Given the description of an element on the screen output the (x, y) to click on. 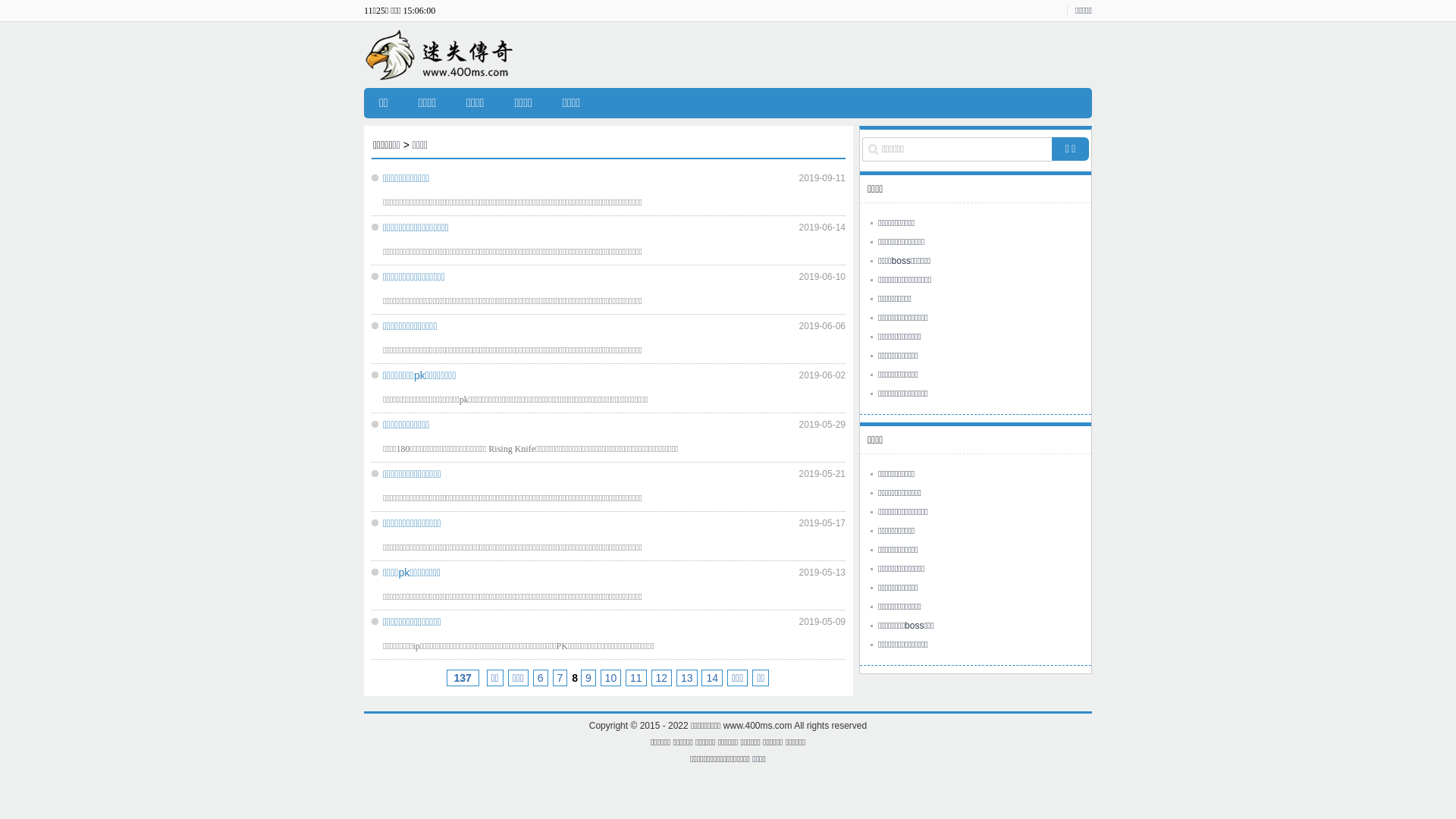
10 Element type: text (610, 677)
7 Element type: text (559, 677)
14 Element type: text (711, 677)
13 Element type: text (686, 677)
6 Element type: text (540, 677)
11 Element type: text (635, 677)
 137 Element type: text (462, 677)
9 Element type: text (588, 677)
12 Element type: text (661, 677)
